Given the description of an element on the screen output the (x, y) to click on. 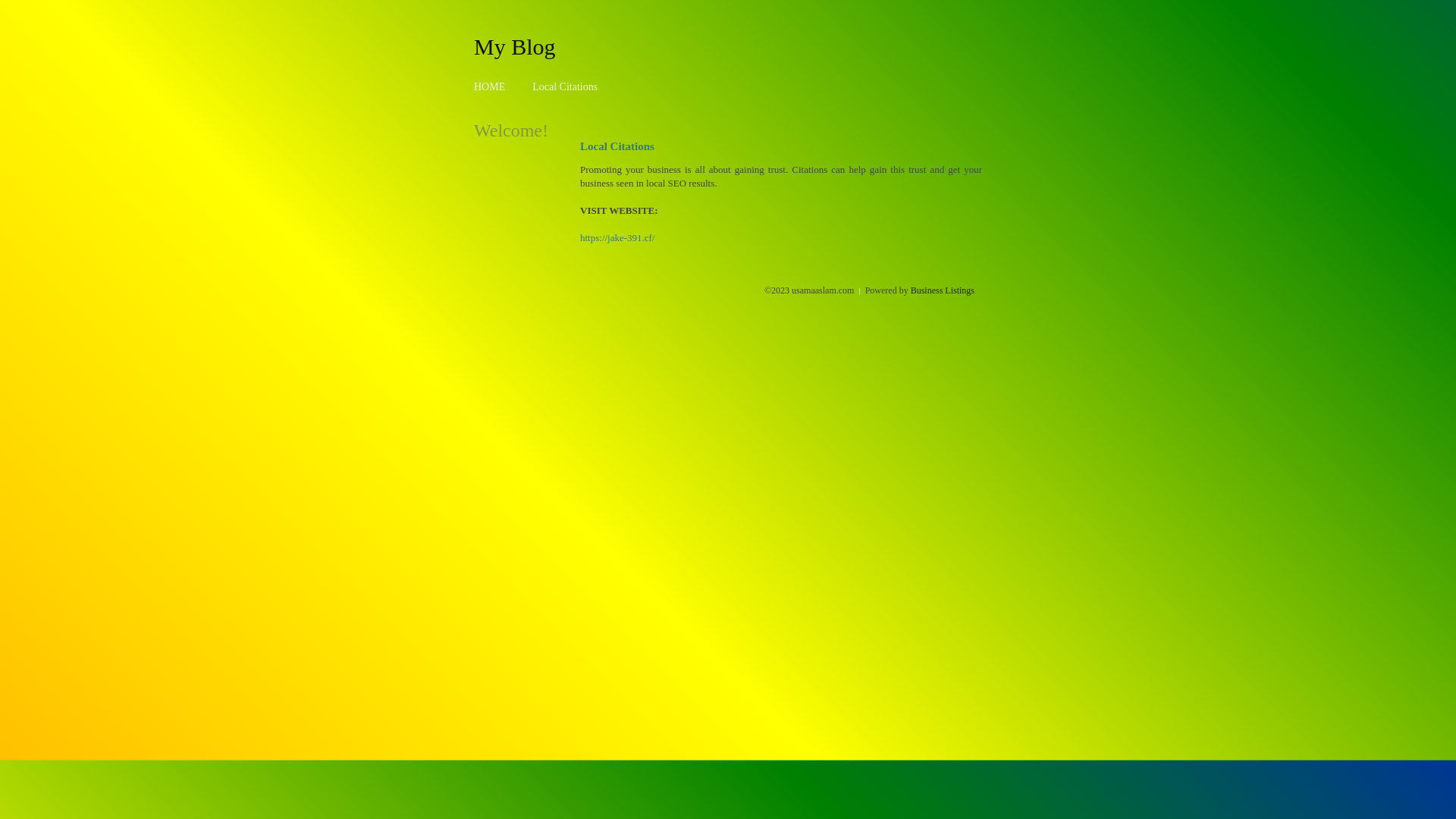
https://jake-391.cf/ Element type: text (617, 237)
Business Listings Element type: text (942, 290)
Local Citations Element type: text (564, 86)
HOME Element type: text (489, 86)
My Blog Element type: text (514, 46)
